Given the description of an element on the screen output the (x, y) to click on. 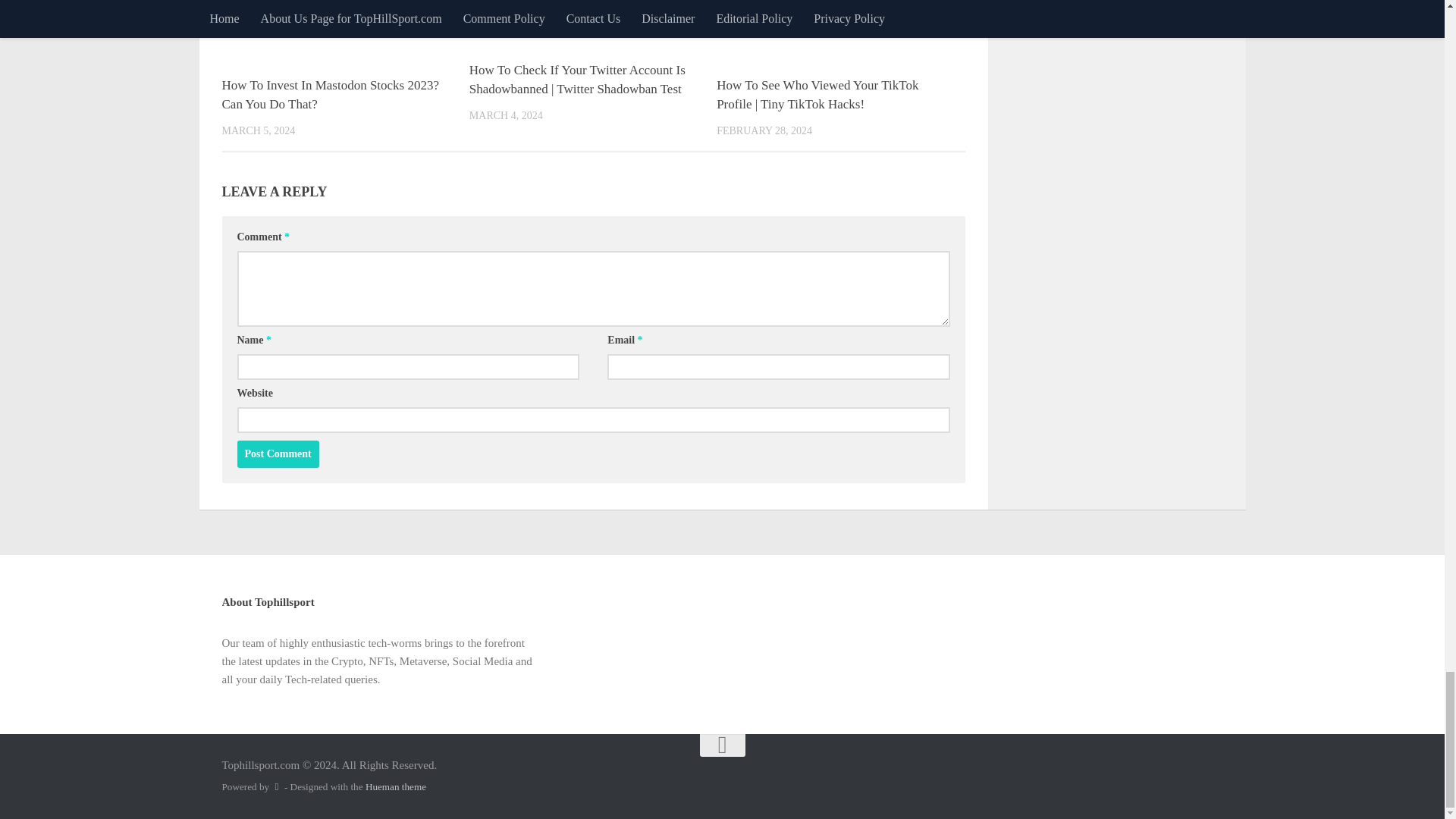
Powered by WordPress (275, 786)
Post Comment (276, 453)
